Given the description of an element on the screen output the (x, y) to click on. 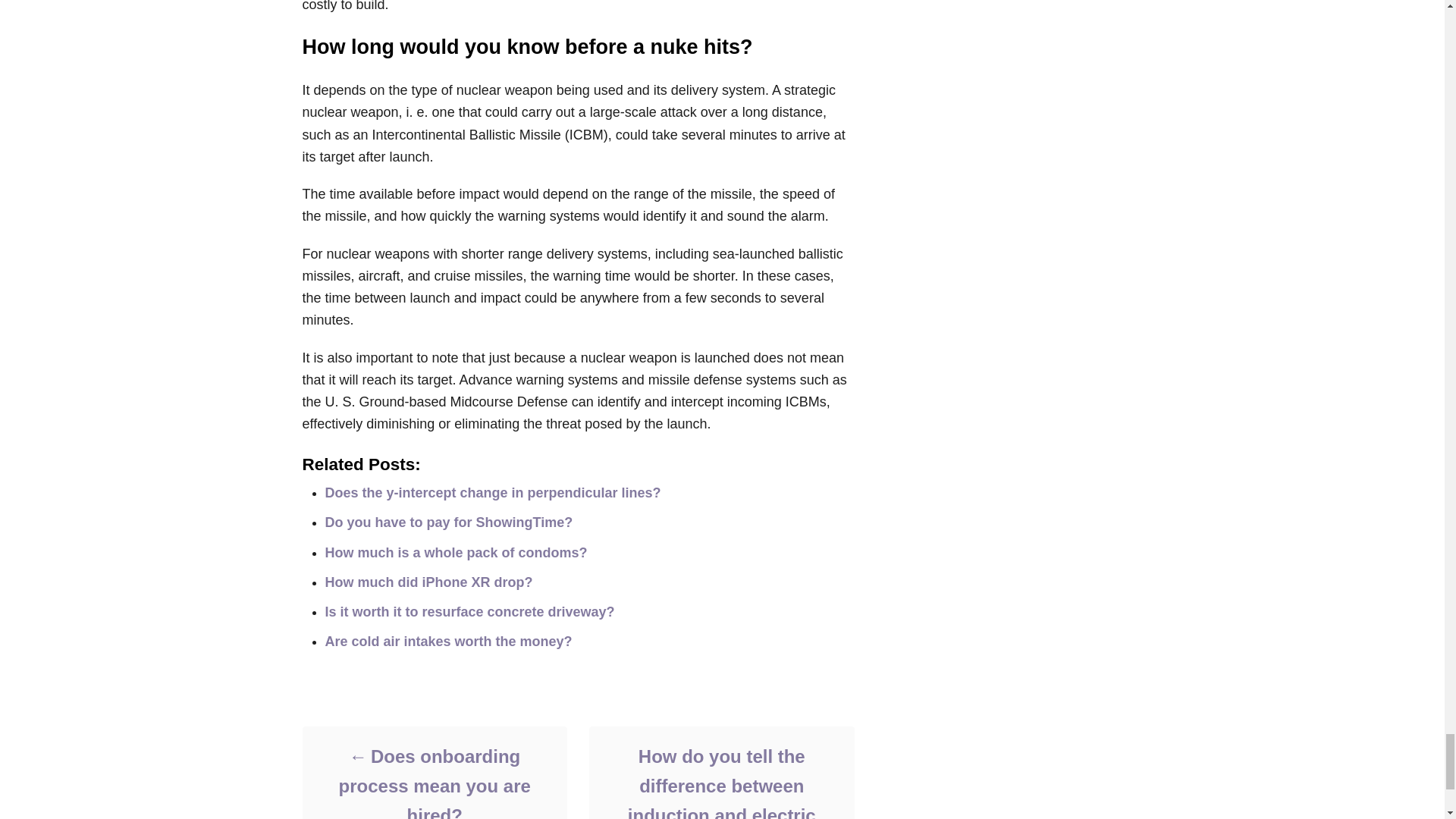
How much is a whole pack of condoms? (455, 552)
How much did iPhone XR drop? (428, 581)
Does the y-intercept change in perpendicular lines? (492, 492)
Do you have to pay for ShowingTime? (448, 522)
Are cold air intakes worth the money? (448, 641)
Is it worth it to resurface concrete driveway? (469, 611)
Does onboarding process mean you are hired? (434, 780)
